Given the description of an element on the screen output the (x, y) to click on. 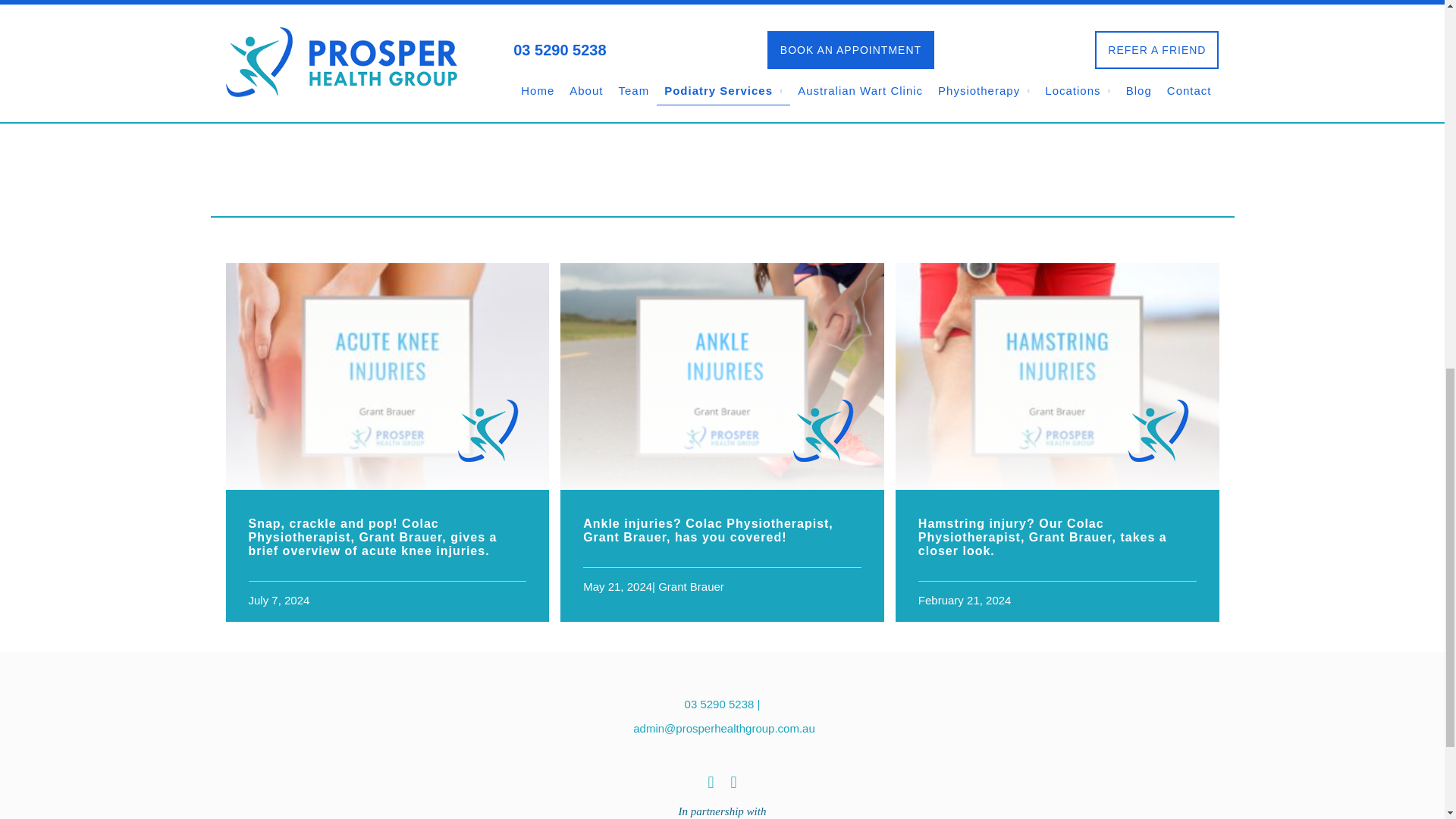
Sports Podiatry (1017, 30)
Nail Surgery (1017, 7)
sports podiatry (377, 9)
Contact (339, 47)
